Given the description of an element on the screen output the (x, y) to click on. 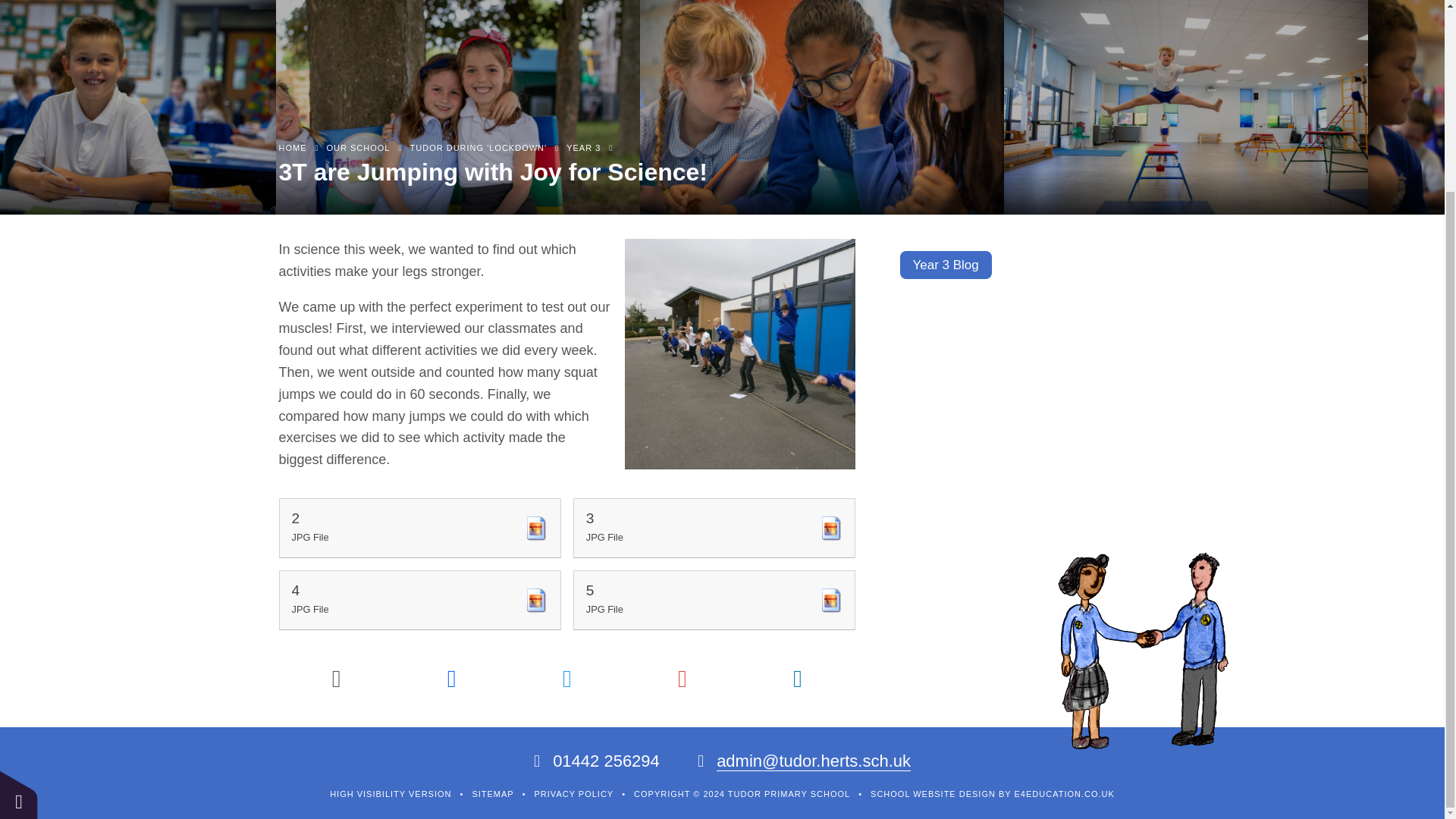
e4education (1064, 793)
